Given the description of an element on the screen output the (x, y) to click on. 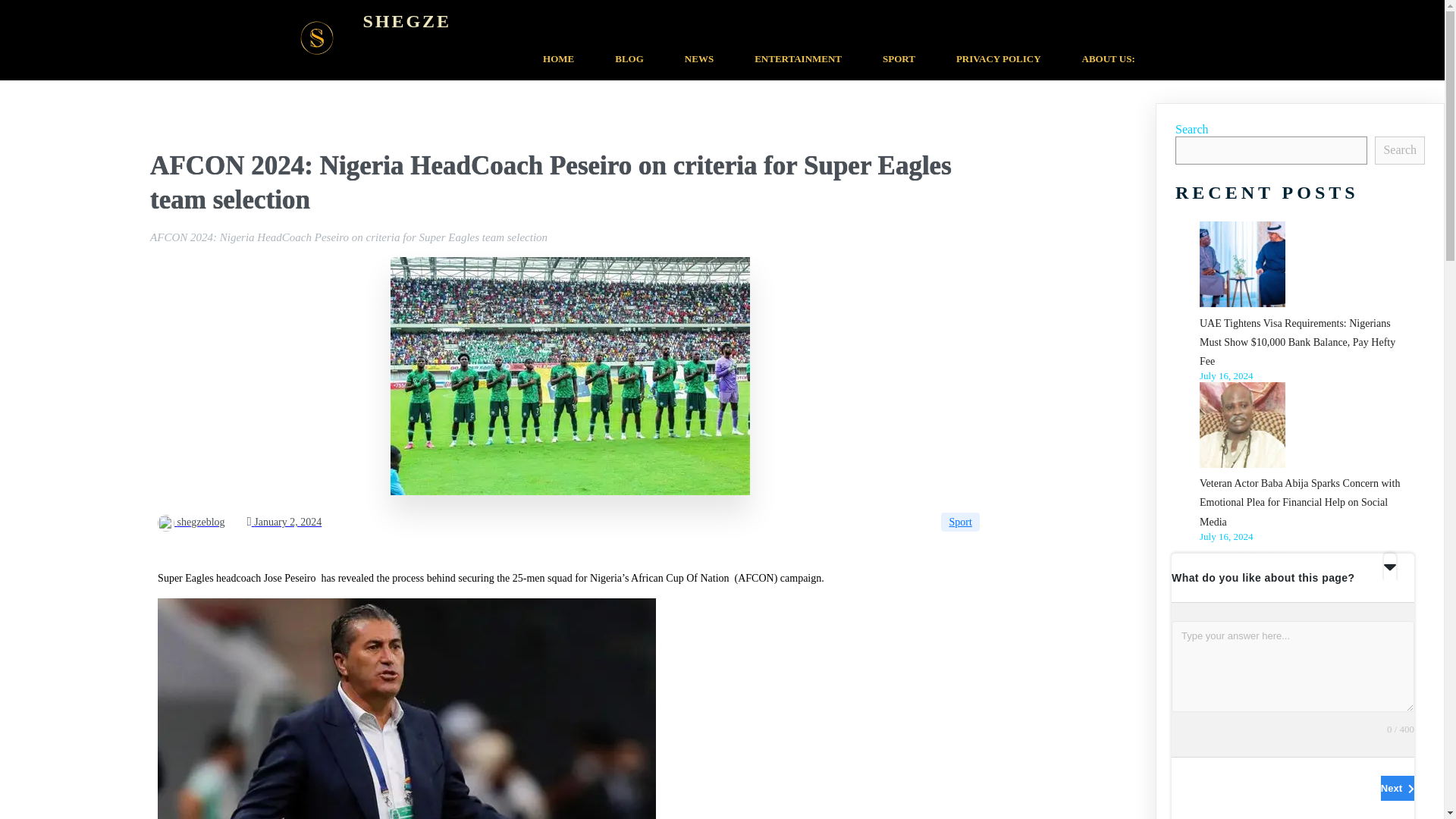
ABOUT US: (1108, 58)
A947224D-D8C2-4574-AF0E-66929401CB2D (569, 376)
HOME (558, 58)
Sport (959, 521)
BLOG (628, 58)
ENTERTAINMENT (797, 58)
January 2, 2024 (284, 521)
cropped-IMG-20230625-WA0006.jpg (316, 37)
Search (1399, 149)
SHEGZE (757, 21)
PRIVACY POLICY (998, 58)
shegzeblog (190, 521)
NEWS (698, 58)
